Given the description of an element on the screen output the (x, y) to click on. 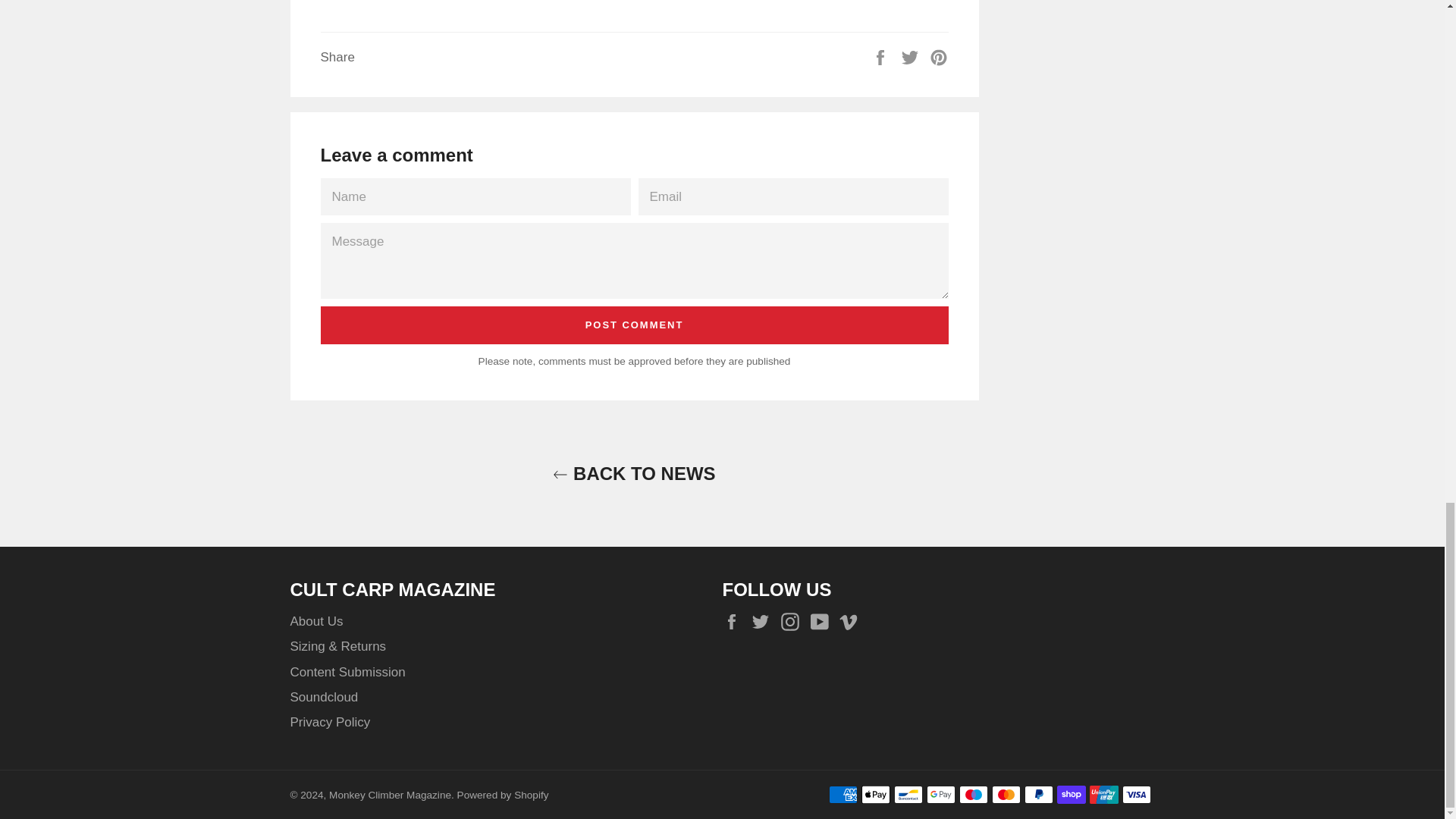
Monkey Climber Magazine on Twitter (764, 621)
Pin on Pinterest (938, 56)
BACK TO NEWS (633, 473)
Monkey Climber Magazine on Vimeo (852, 621)
Share on Facebook (881, 56)
Monkey Climber Magazine on Instagram (793, 621)
Tweet on Twitter (912, 56)
Tweet on Twitter (912, 56)
Monkey Climber Magazine on Facebook (735, 621)
Post comment (633, 324)
